Given the description of an element on the screen output the (x, y) to click on. 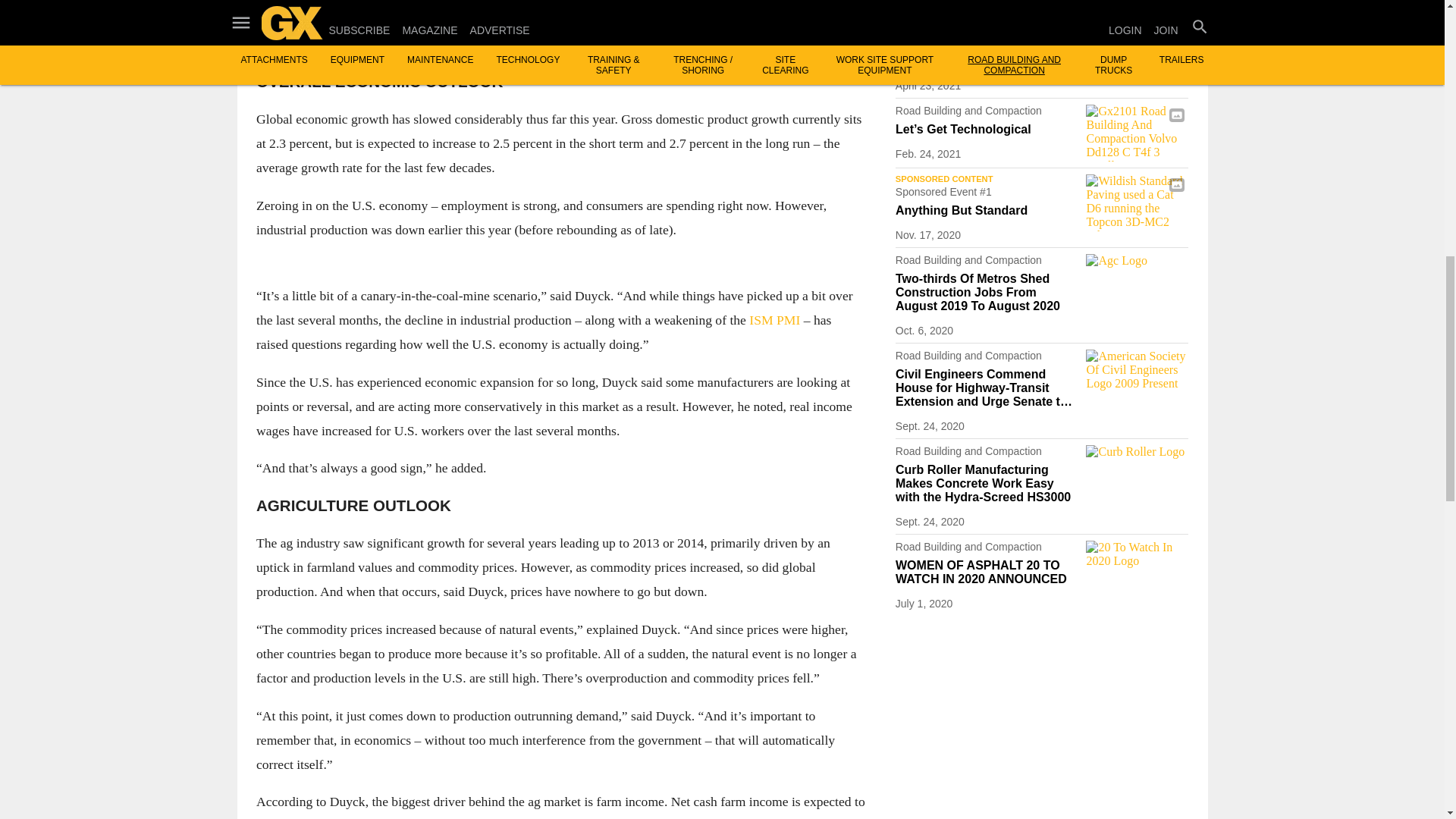
American Society Of Civil Engineers Logo 2009 Present (1137, 377)
American Society Of Civil Engineers Logo 2009 Present (1137, 37)
Curb Roller Logo (1137, 473)
Agc Logo (1137, 282)
